Given the description of an element on the screen output the (x, y) to click on. 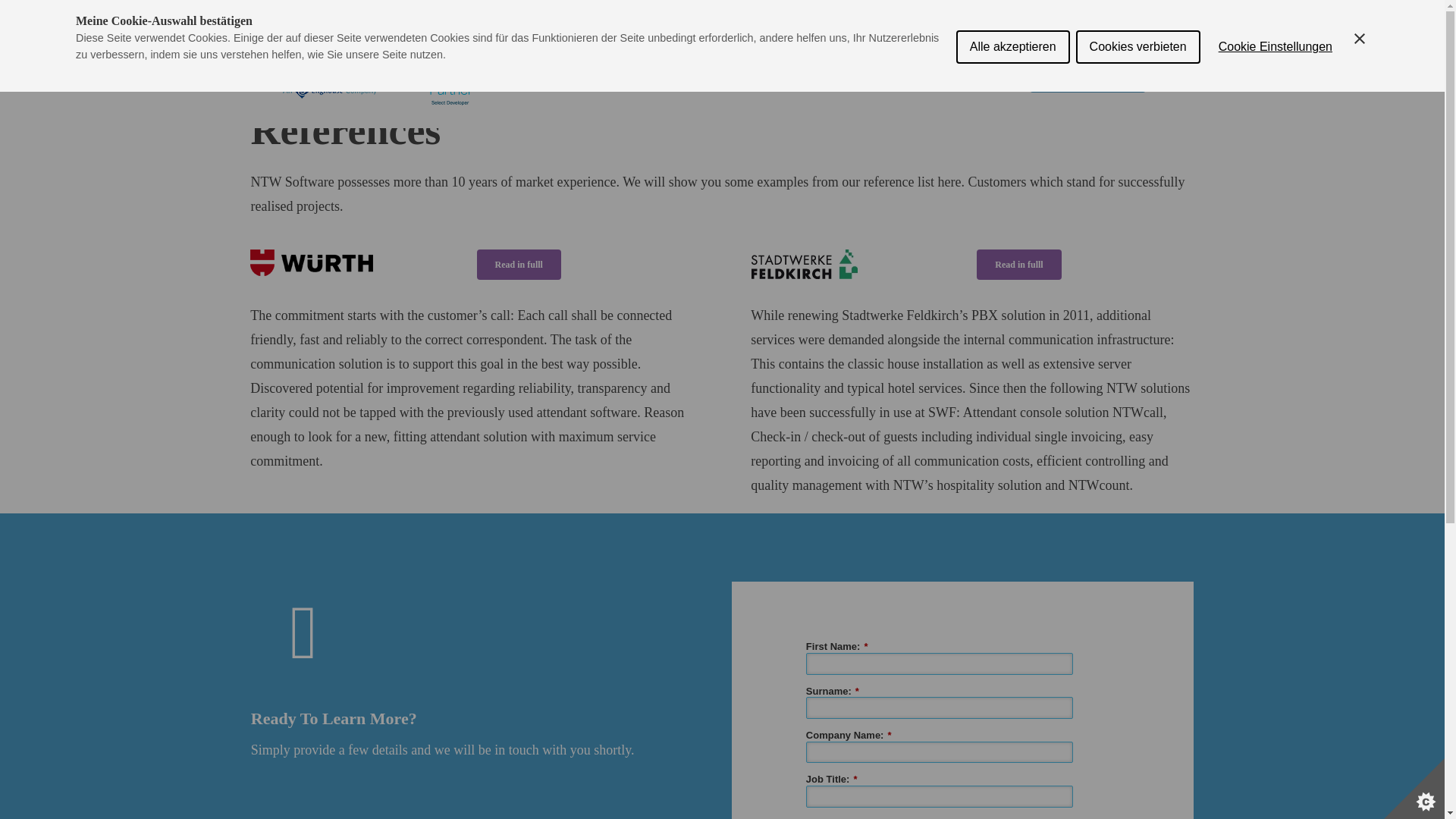
Products (778, 78)
Alle akzeptieren (1013, 4)
Cookies verbieten (1137, 9)
German (1159, 15)
English (1097, 15)
Cookie Einstellungen (1275, 20)
English (1097, 15)
